Given the description of an element on the screen output the (x, y) to click on. 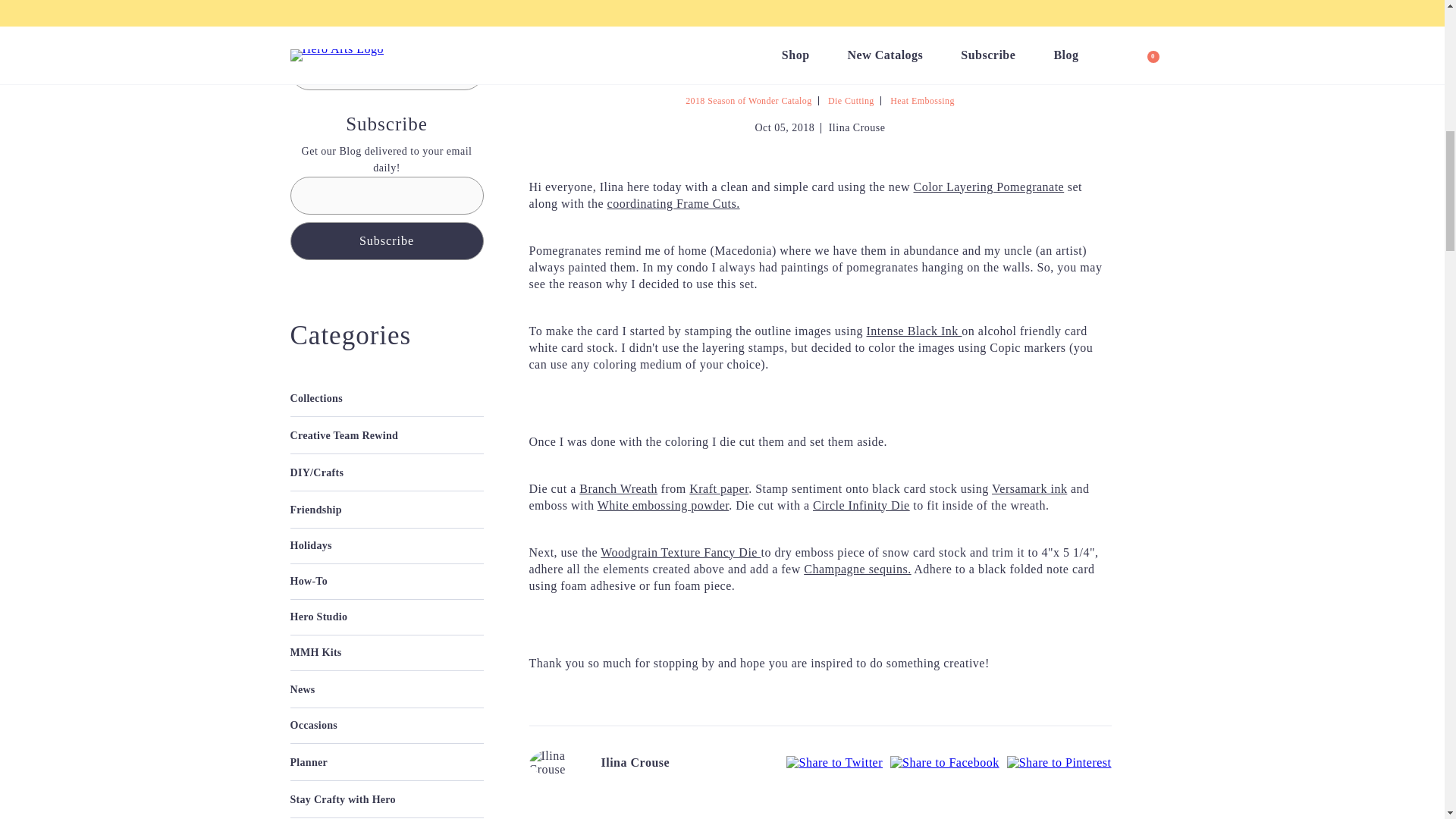
Hero Arts Blog tagged Holidays (386, 545)
Hero Arts Blog tagged Friendship (314, 509)
Hero Arts Blog tagged Collections (386, 398)
Subscribe (386, 240)
Hero Arts Blog tagged Creative Team Rewind (343, 434)
